Given the description of an element on the screen output the (x, y) to click on. 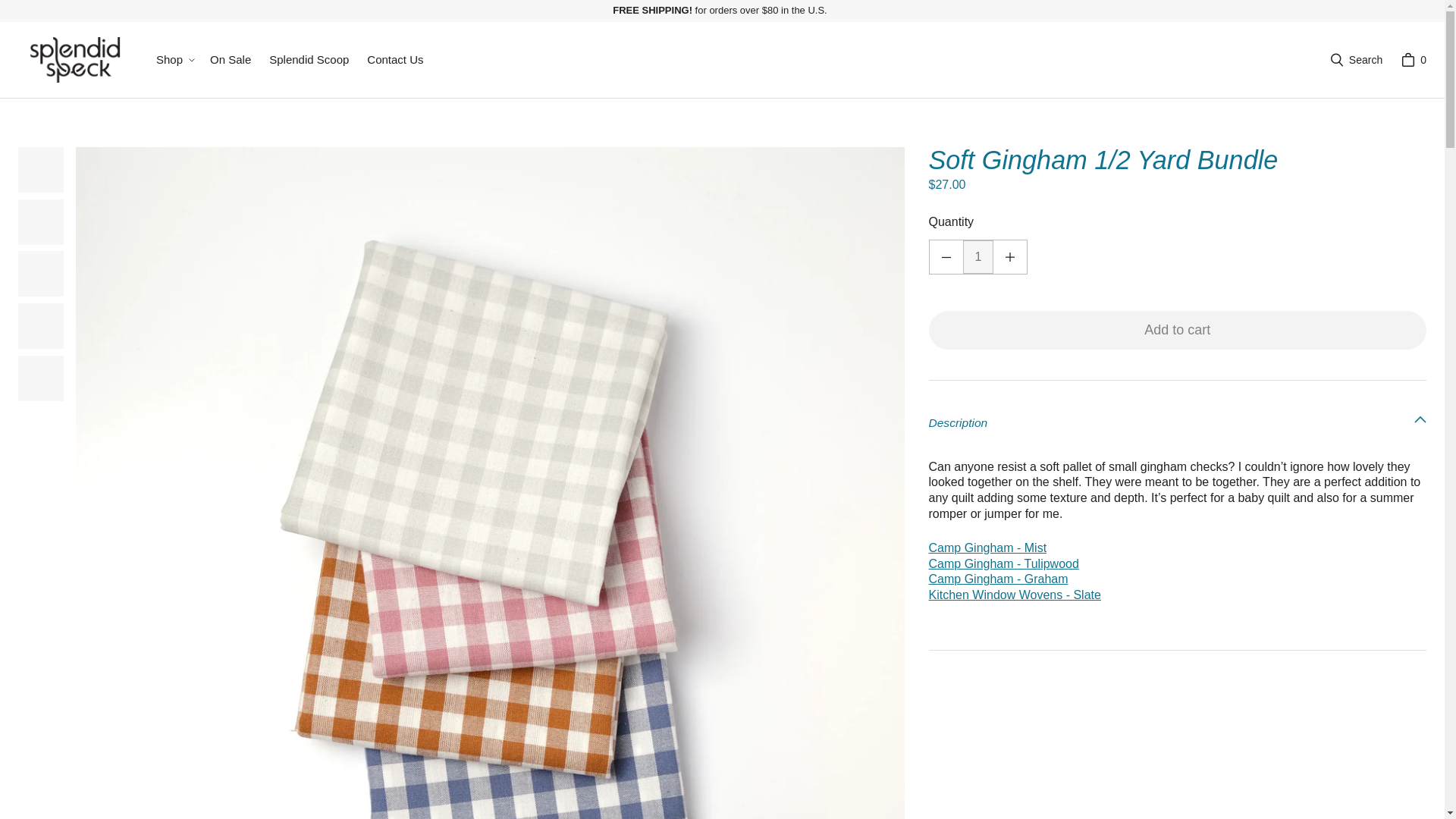
On Sale (230, 59)
Search (1355, 59)
Contact Us (395, 59)
Splendid Scoop (309, 59)
0 (1413, 59)
1 (978, 256)
